Given the description of an element on the screen output the (x, y) to click on. 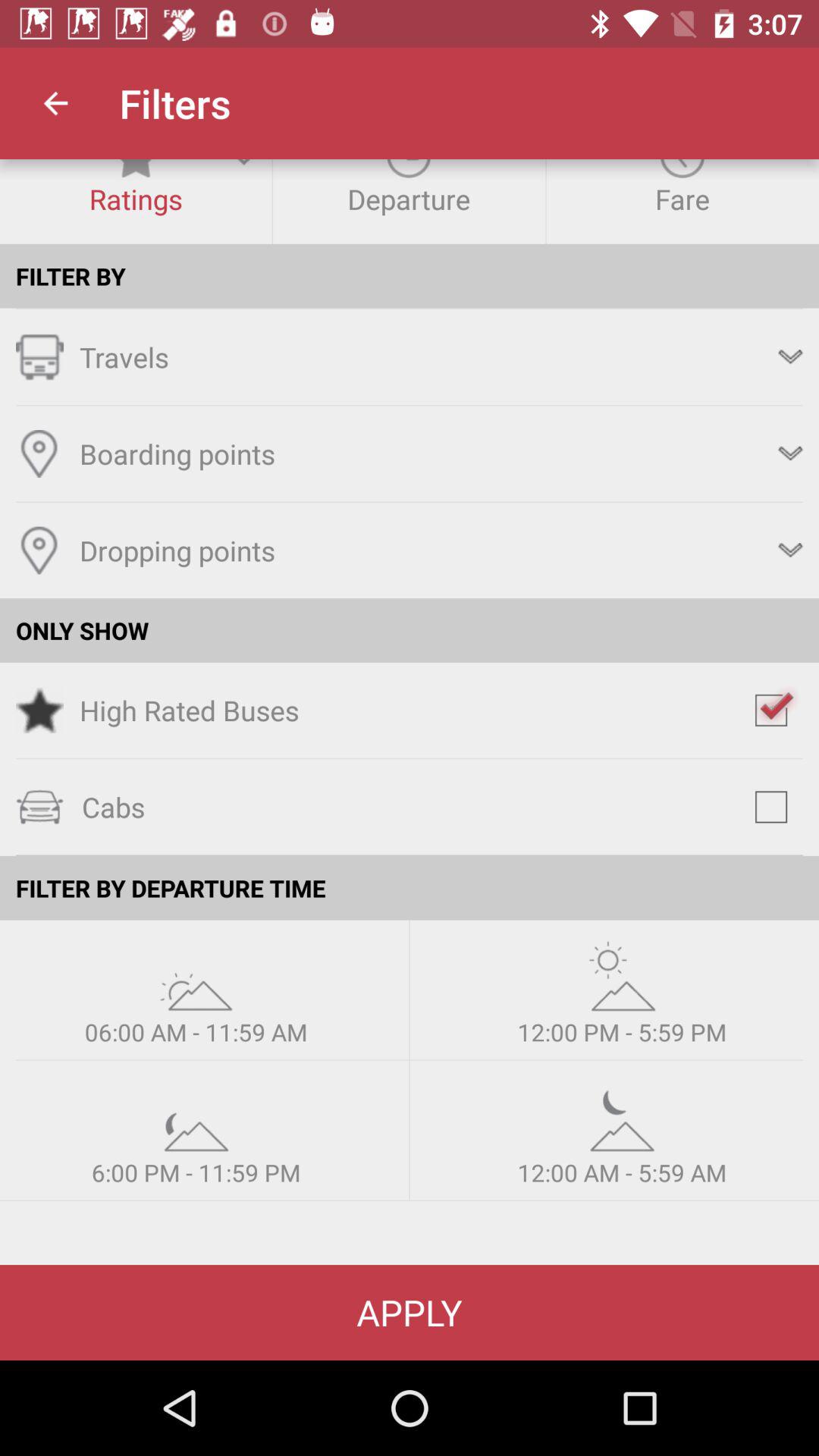
go to timeing option (196, 975)
